Given the description of an element on the screen output the (x, y) to click on. 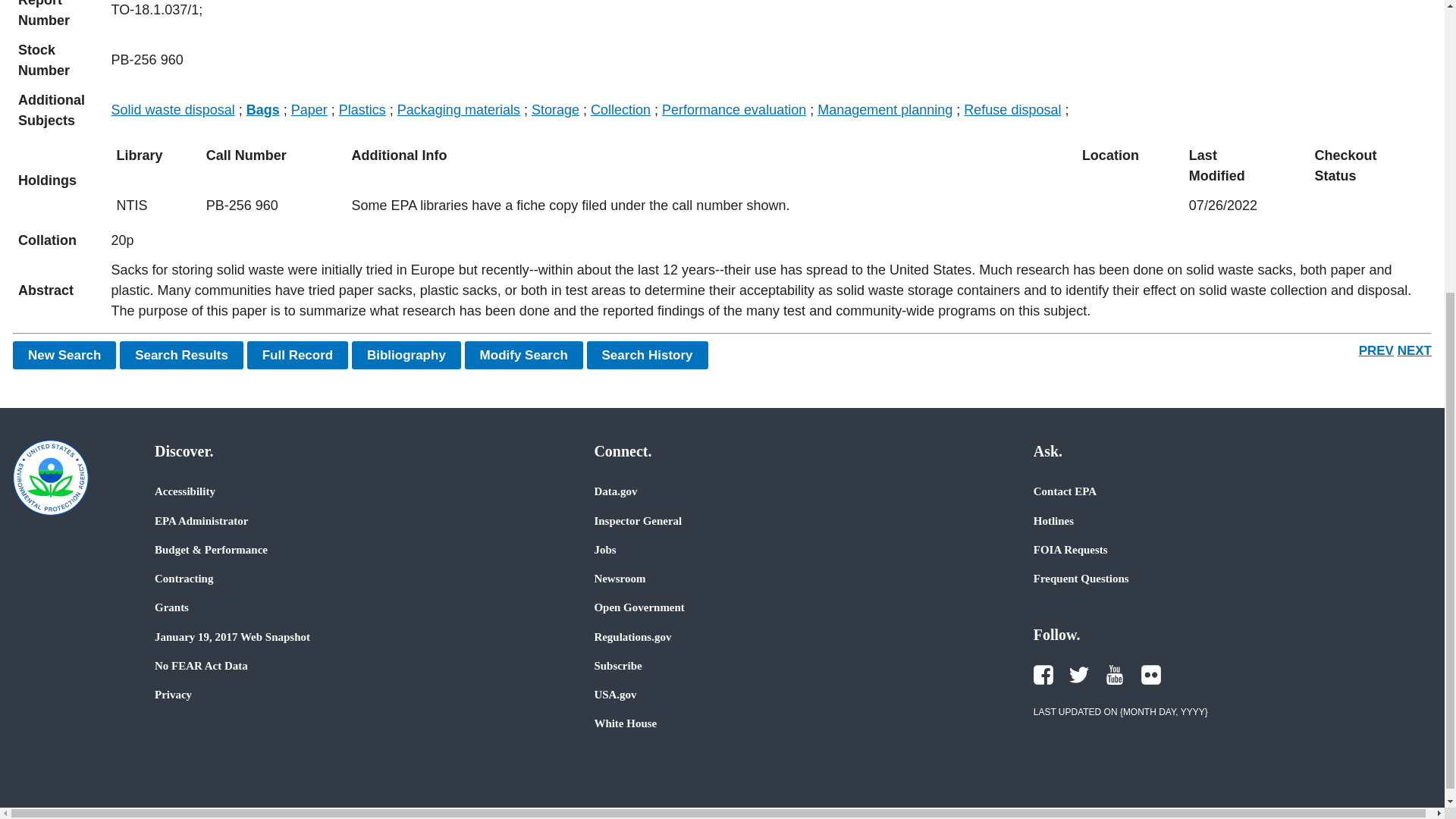
Bags (262, 109)
Packaging materials (458, 109)
January 19, 2017 Web Snapshot (232, 636)
Search History (646, 355)
Paper (309, 109)
PREV (1375, 350)
Collection (620, 109)
Storage (555, 109)
Create a New Search (64, 355)
full length text available by clicking full record (769, 290)
